Given the description of an element on the screen output the (x, y) to click on. 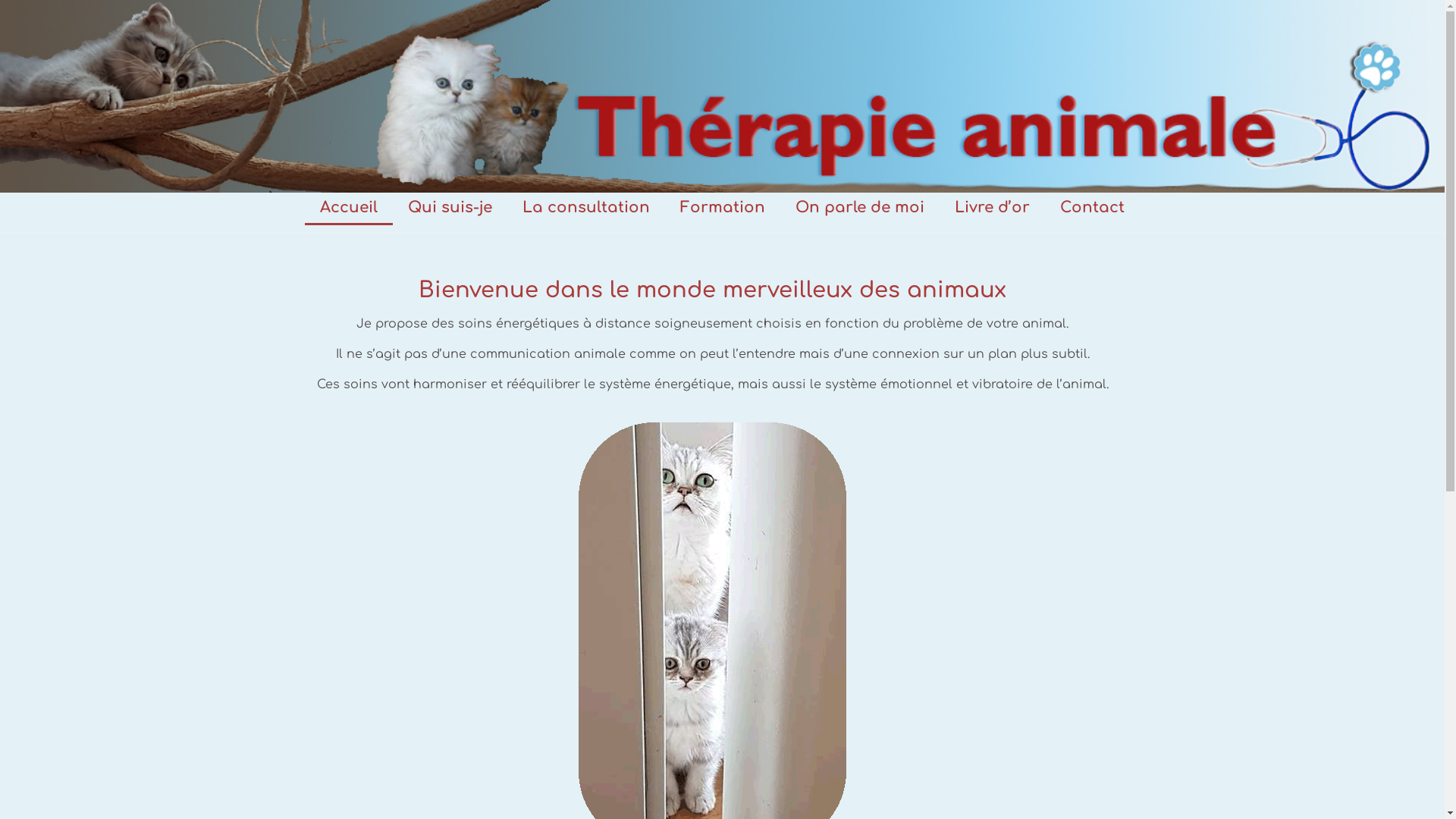
On parle de moi Element type: text (859, 207)
Accueil Element type: text (348, 207)
Formation Element type: text (722, 207)
La consultation Element type: text (586, 207)
Qui suis-je Element type: text (449, 207)
Contact Element type: text (1091, 207)
